Given the description of an element on the screen output the (x, y) to click on. 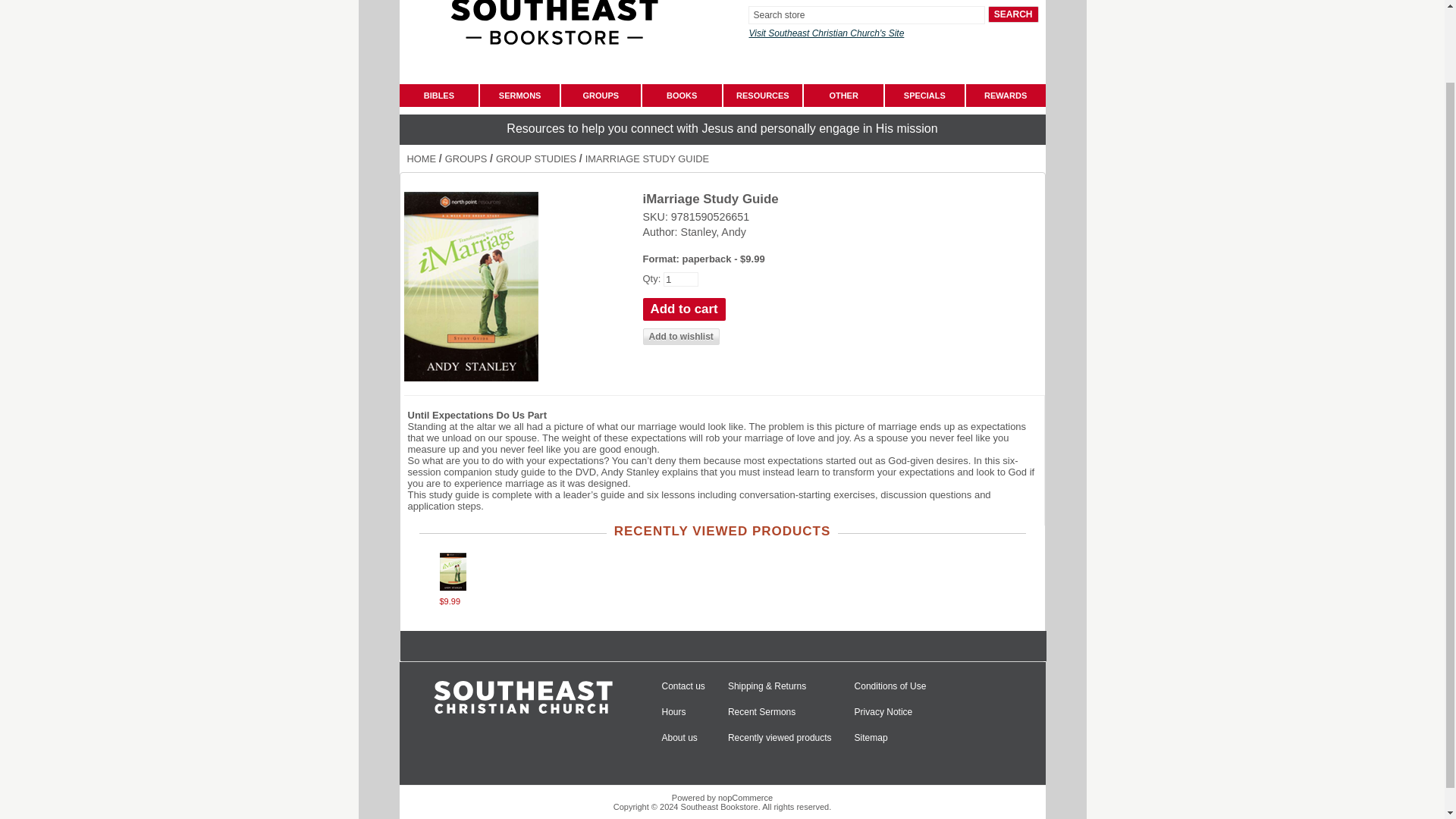
Add to wishlist (681, 336)
Search store (866, 14)
Search (1013, 13)
Search store (866, 14)
Add to cart (684, 309)
SERMONS (519, 95)
Show details for iMarriage Study Guide (452, 571)
Search (1013, 13)
BIBLES (438, 95)
Search (1013, 13)
Visit Southeast Christian Church'S Site (826, 32)
Show details for iMarriage Study Guide (446, 587)
Picture of iMarriage Study Guide (470, 286)
1 (680, 278)
